Given the description of an element on the screen output the (x, y) to click on. 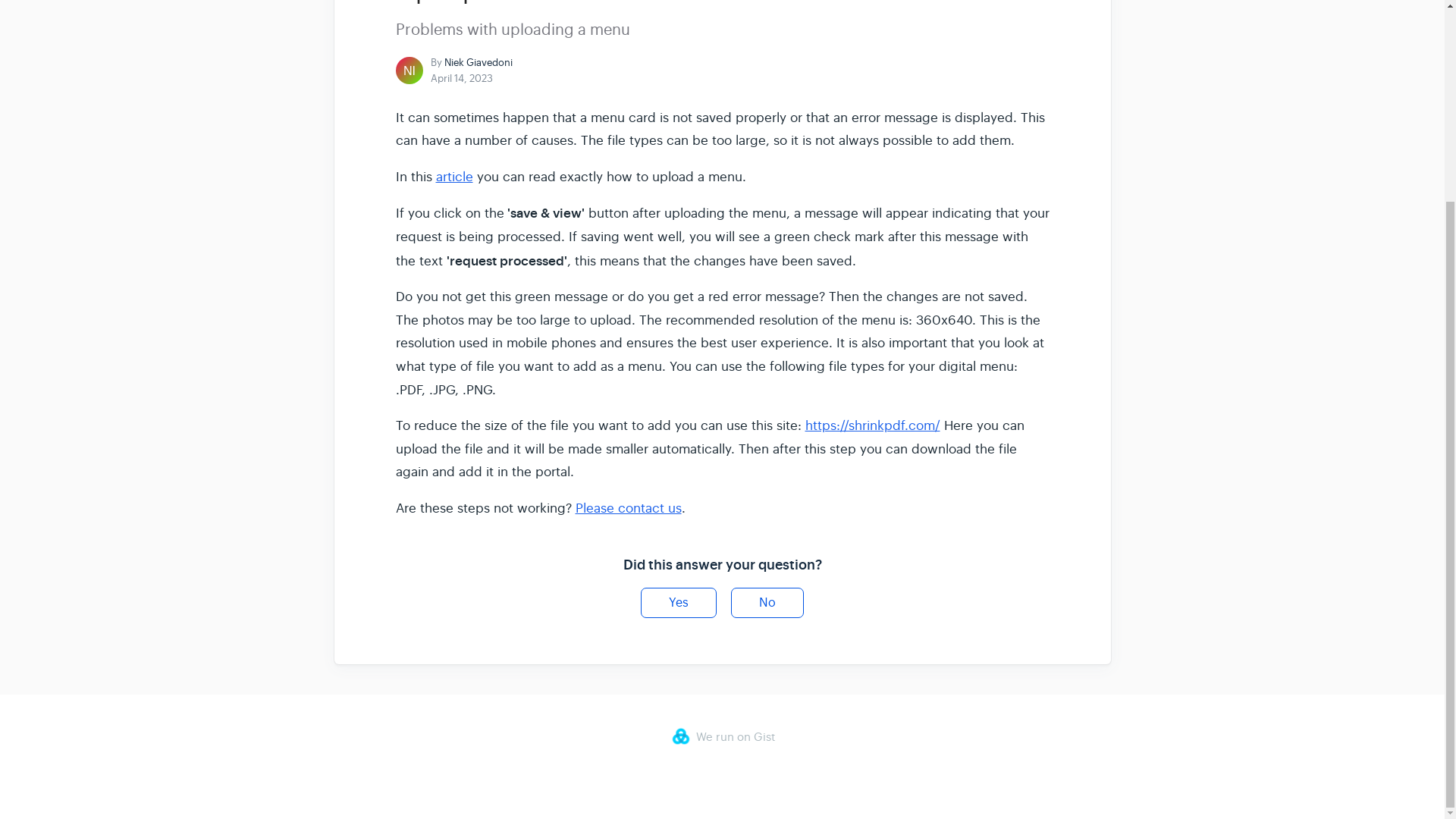
We run on Gist (721, 735)
article (453, 176)
No (766, 603)
Yes (678, 603)
Please contact us (628, 508)
